Given the description of an element on the screen output the (x, y) to click on. 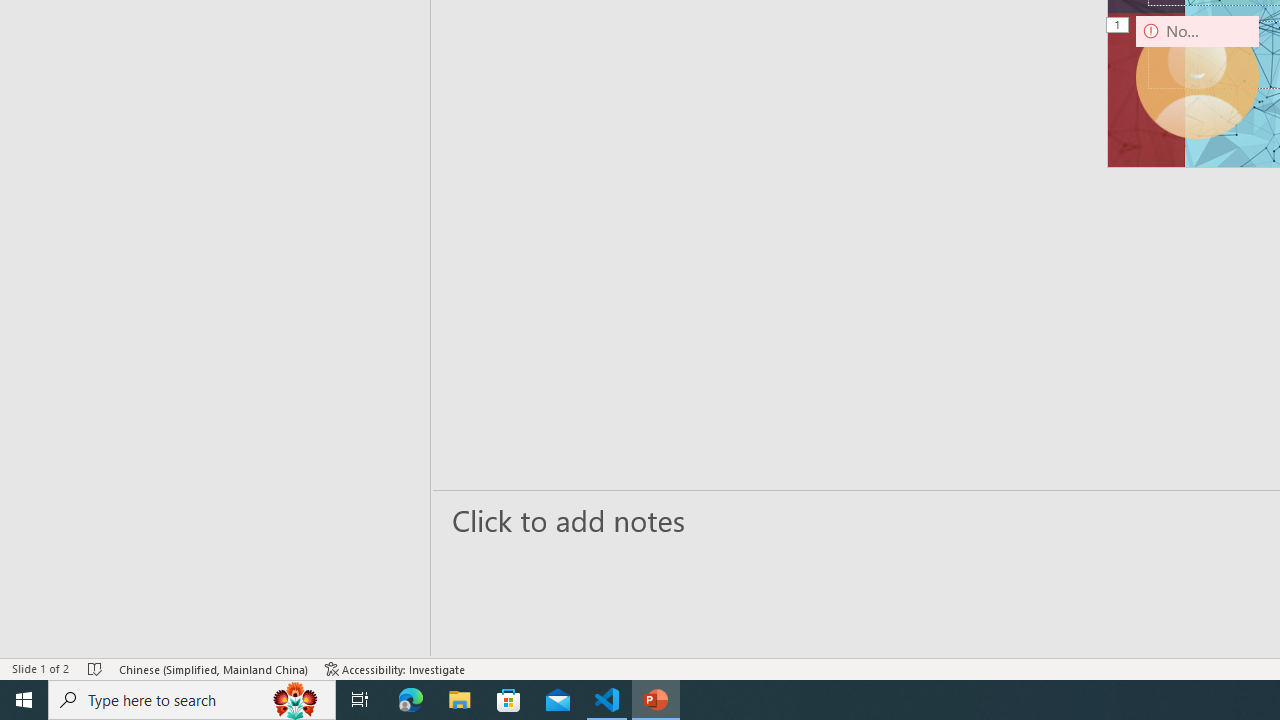
Camera 9, No camera detected. (1197, 77)
Animation, sequence 1, on Camera 9 (1118, 26)
